Given the description of an element on the screen output the (x, y) to click on. 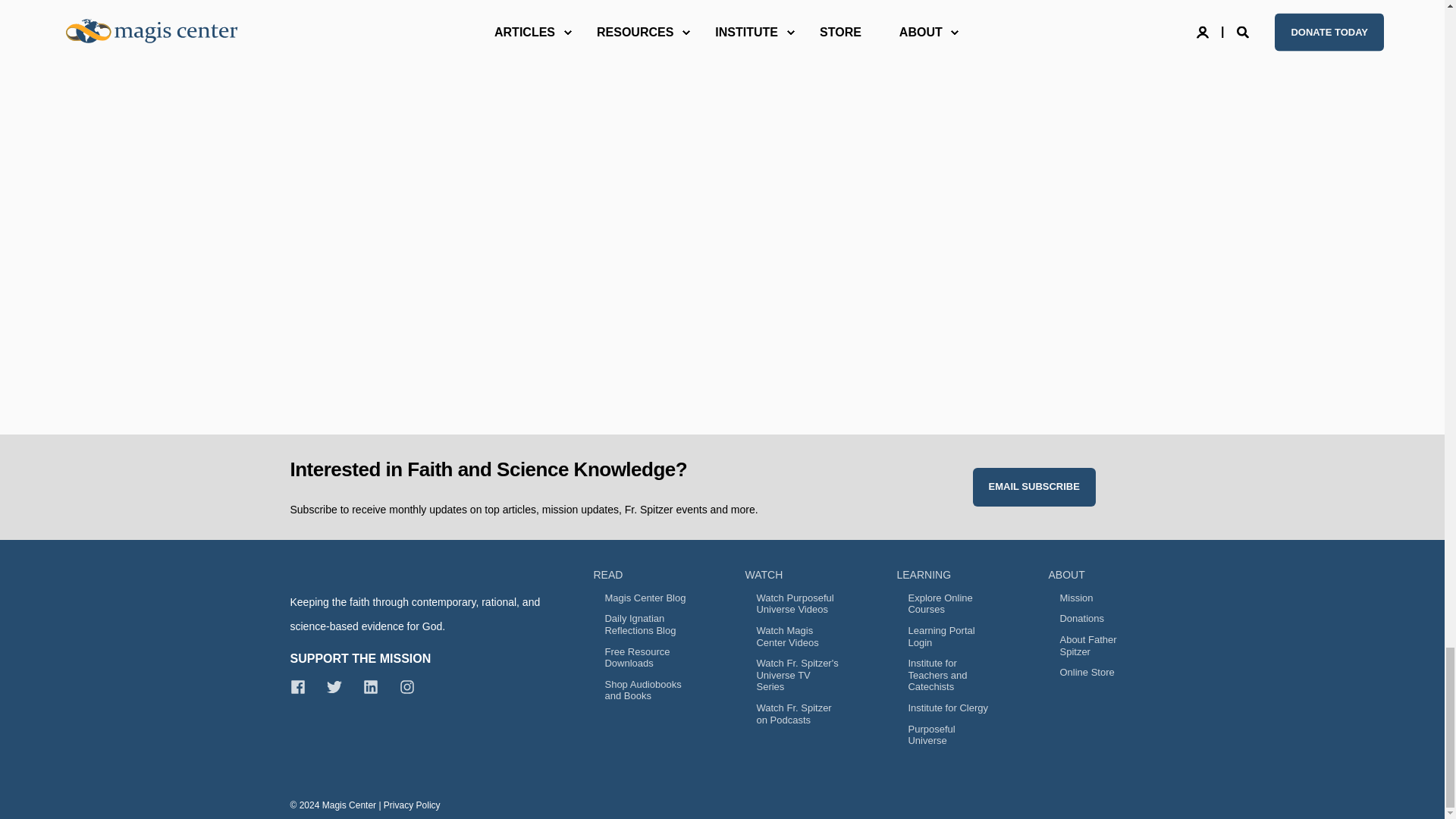
Button Email Subscribe (1033, 486)
